Given the description of an element on the screen output the (x, y) to click on. 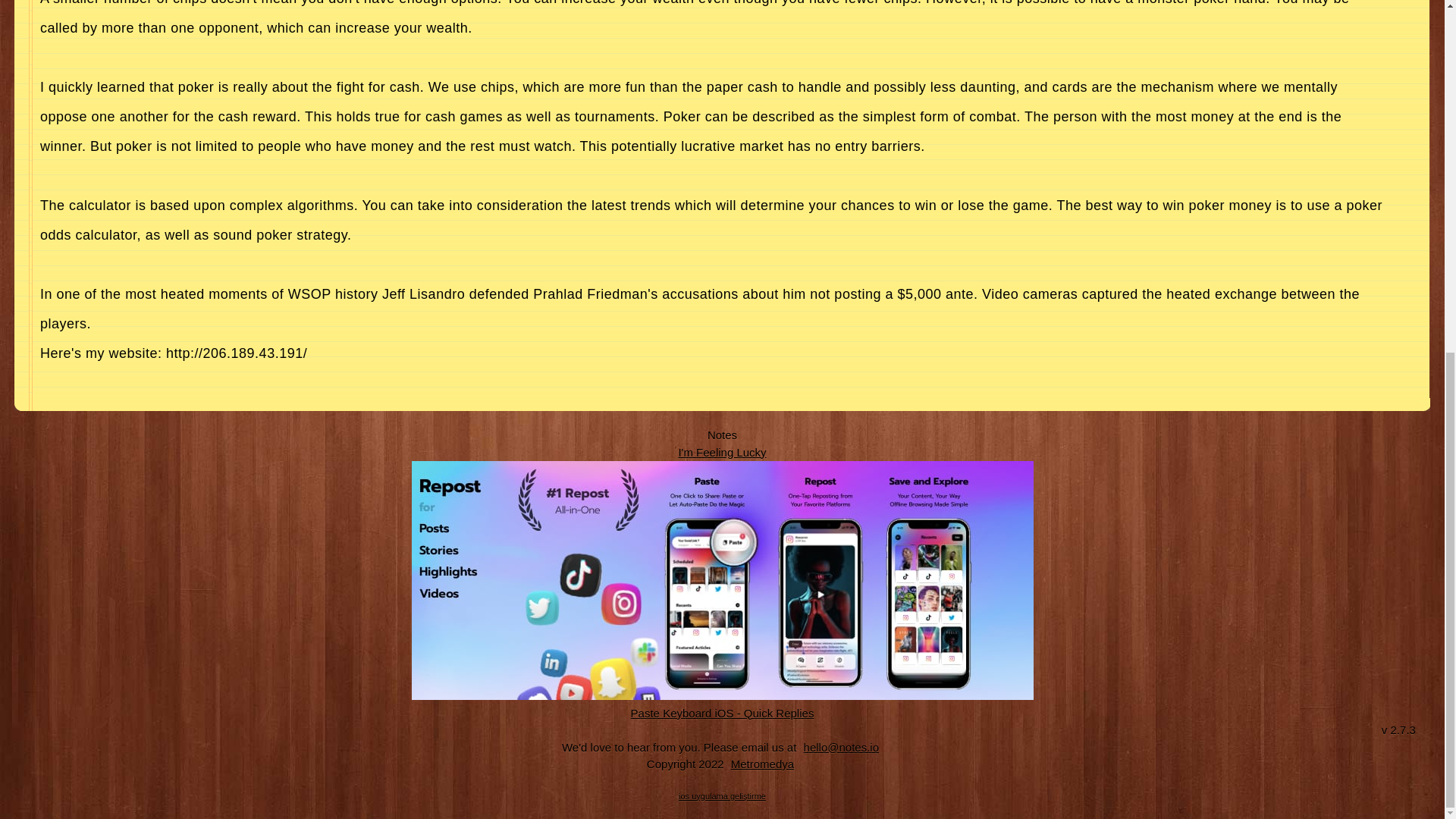
Feeling Luck (722, 451)
Quick Replies iOS App Web Site (722, 712)
I'm Feeling Lucky (722, 451)
Metromedya (761, 763)
Paste Keyboard iOS - Quick Replies (722, 712)
